Given the description of an element on the screen output the (x, y) to click on. 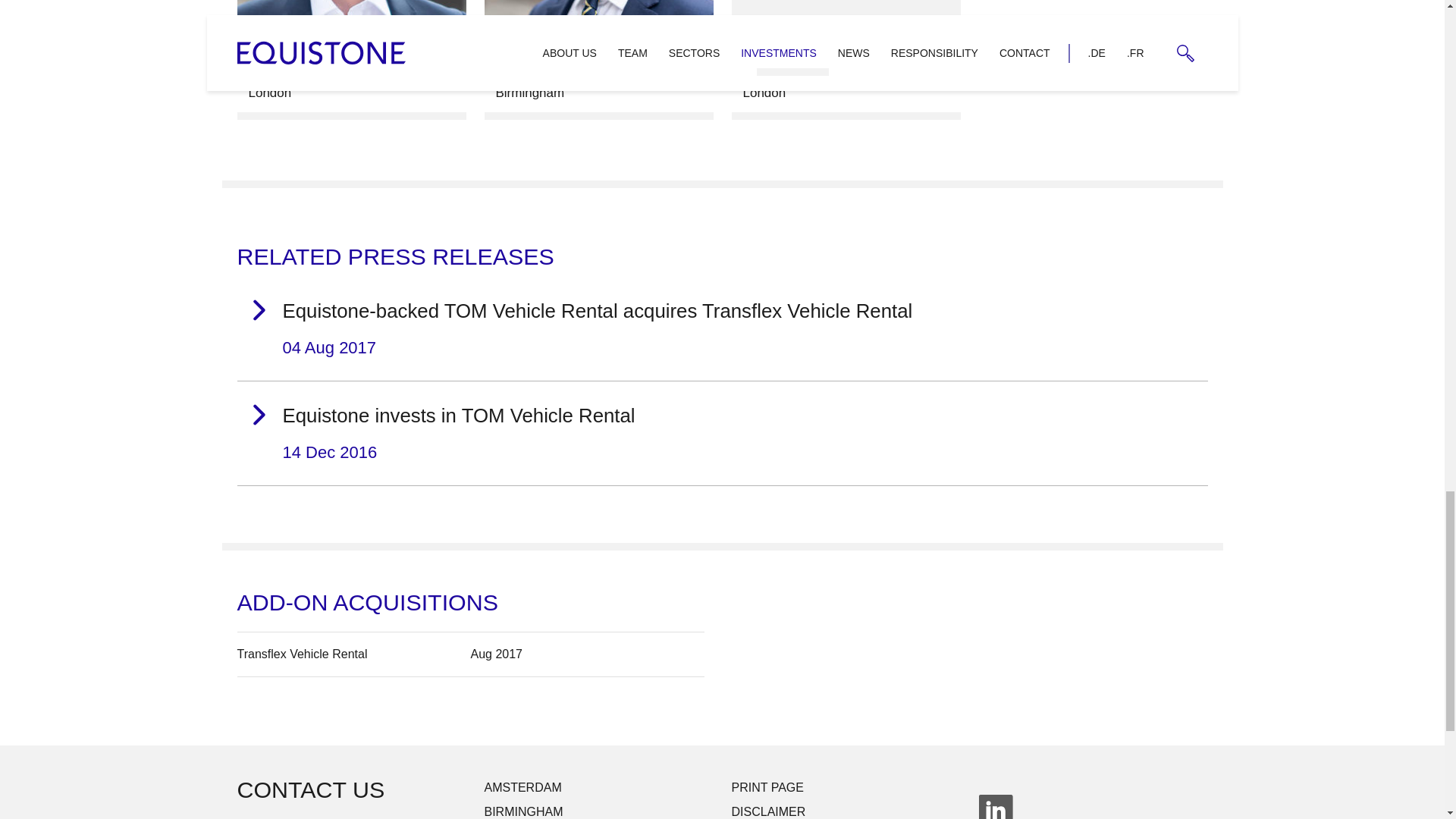
AMSTERDAM (844, 59)
BIRMINGHAM (721, 433)
